Given the description of an element on the screen output the (x, y) to click on. 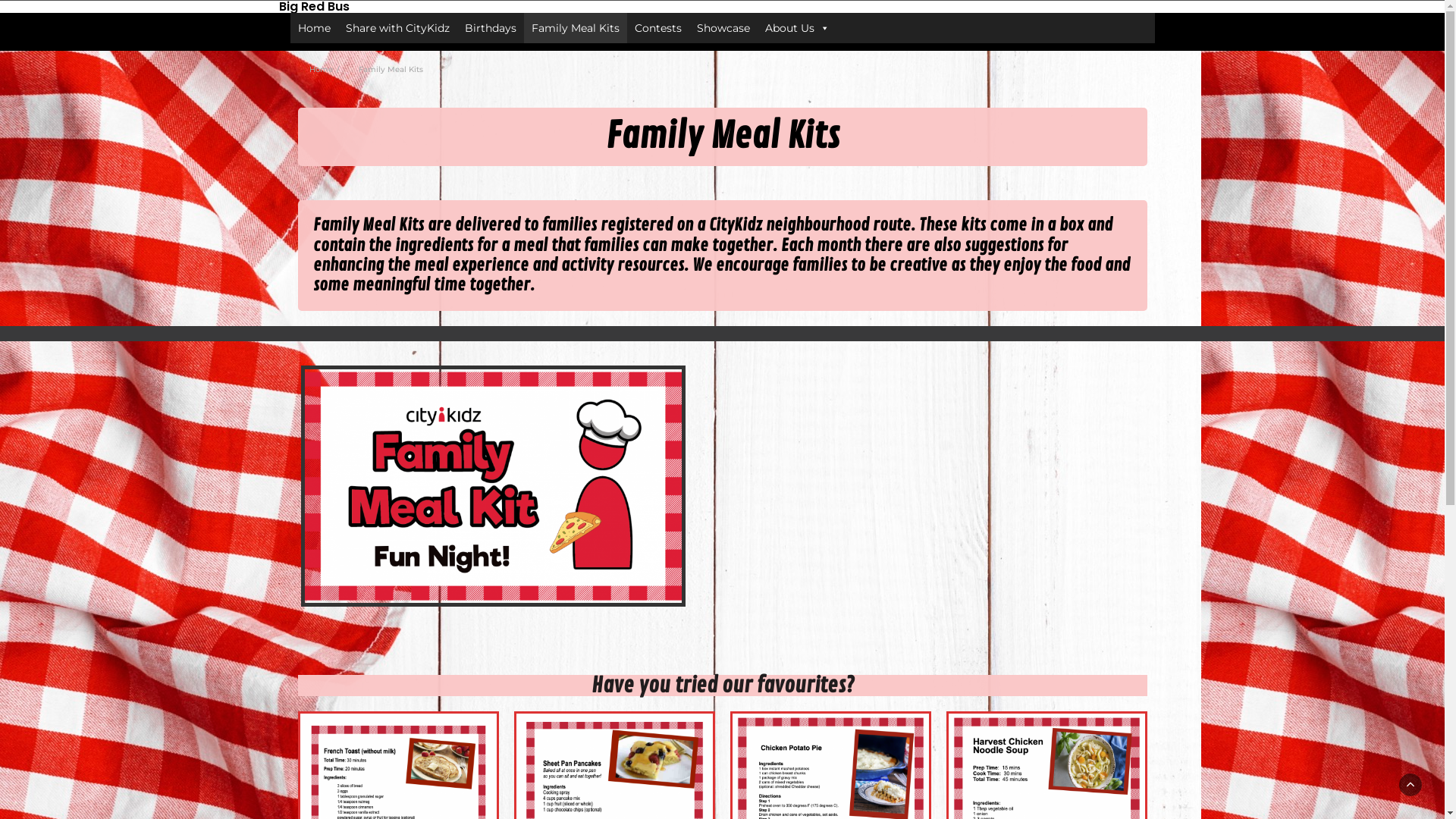
Family Meal Kits Element type: text (574, 27)
Big Red Bus Element type: text (419, 6)
Home Element type: text (320, 69)
Birthdays Element type: text (489, 27)
Home Element type: text (313, 27)
Share with CityKidz Element type: text (397, 27)
Contests Element type: text (657, 27)
Showcase Element type: text (722, 27)
About Us Element type: text (796, 27)
